Given the description of an element on the screen output the (x, y) to click on. 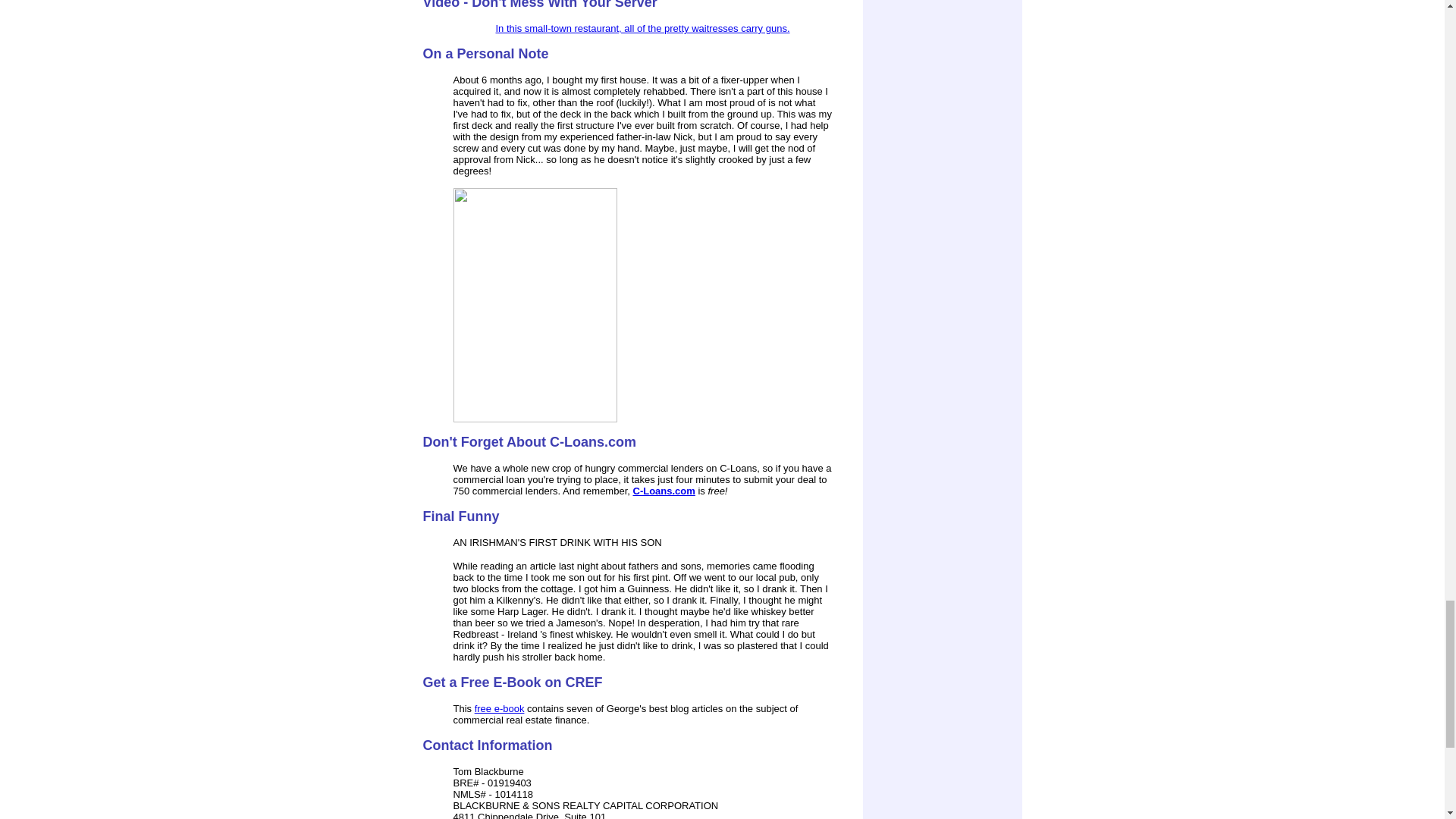
free e-book (499, 708)
C-Loans.com (662, 490)
Learn CREF for free. (499, 708)
